Given the description of an element on the screen output the (x, y) to click on. 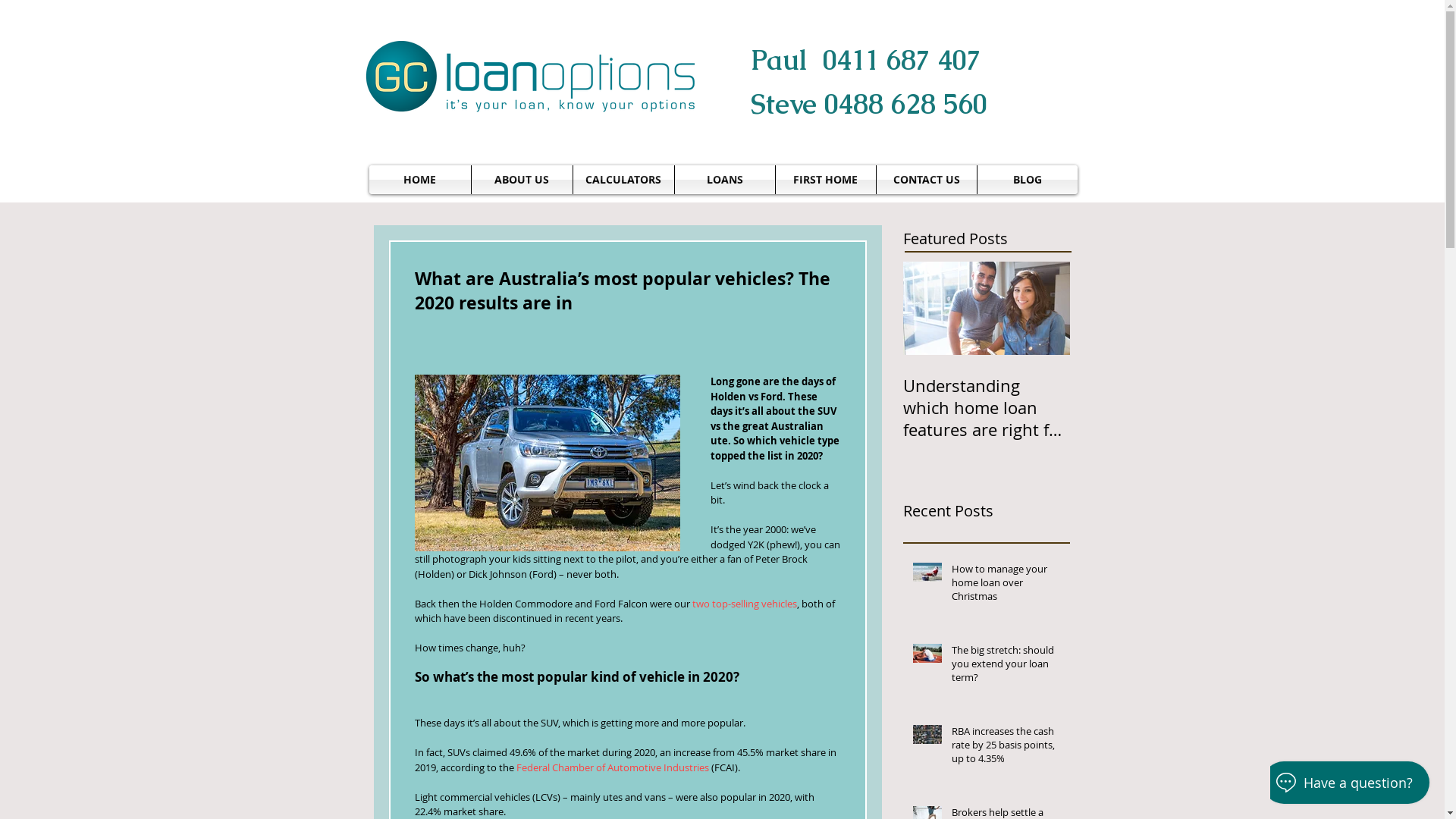
ABOUT US Element type: text (521, 179)
BLOG Element type: text (1026, 179)
Federal Chamber of Automotive Industries Element type: text (611, 766)
Understanding which home loan features are right for you Element type: text (985, 407)
CONTACT US Element type: text (926, 179)
HOME Element type: text (419, 179)
RBA increases the cash rate by 25 basis points, up to 4.35% Element type: text (1005, 747)
The big stretch: should you extend your loan term? Element type: text (1005, 666)
FIRST HOME Element type: text (825, 179)
Mortgage Broker Gold Coast Element type: hover (530, 76)
CALCULATORS Element type: text (623, 179)
two top-selling vehicles Element type: text (743, 602)
LOANS Element type: text (724, 179)
How to manage your home loan over Christmas Element type: text (1005, 585)
